Given the description of an element on the screen output the (x, y) to click on. 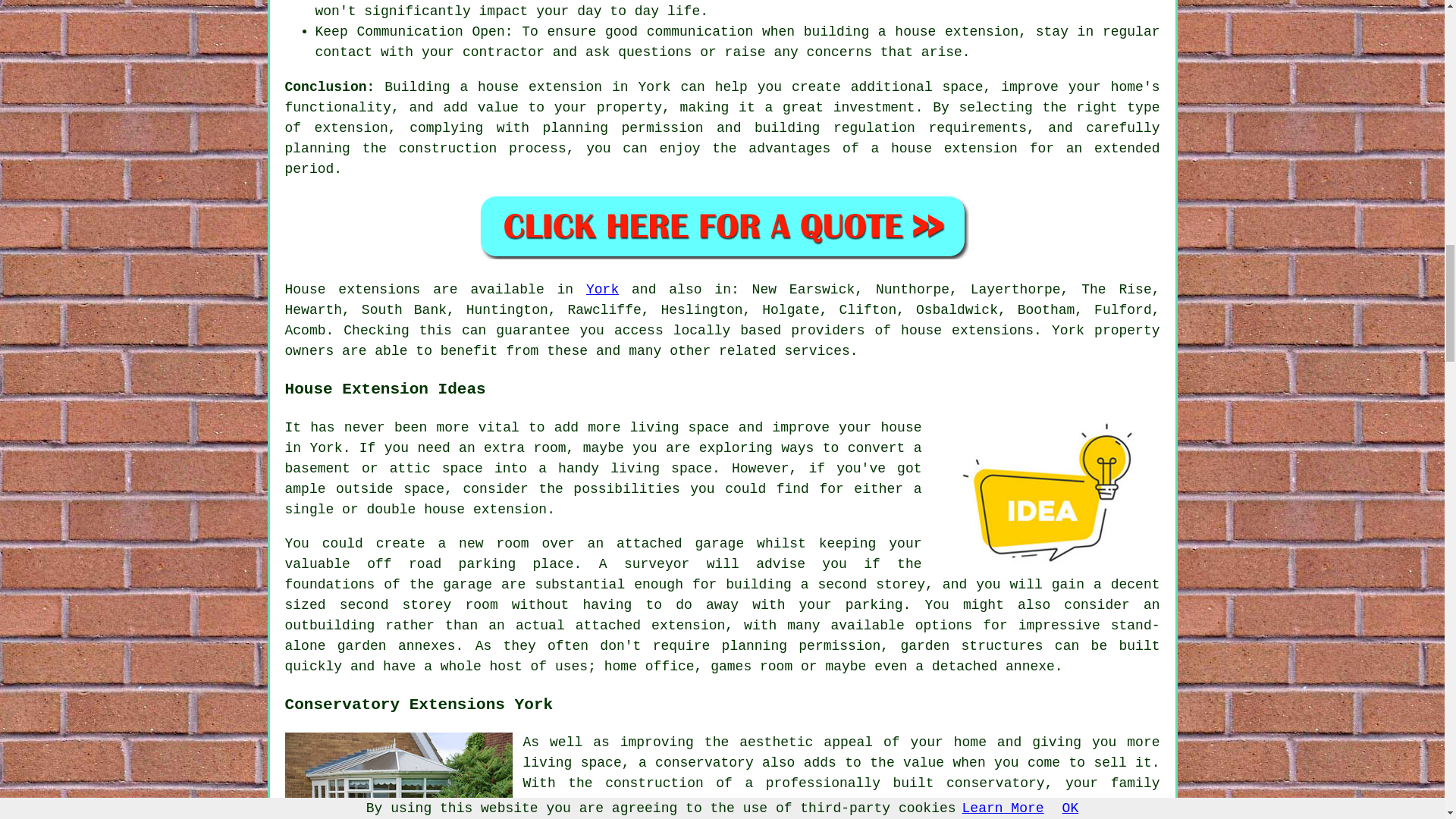
a house extension (943, 148)
